Given the description of an element on the screen output the (x, y) to click on. 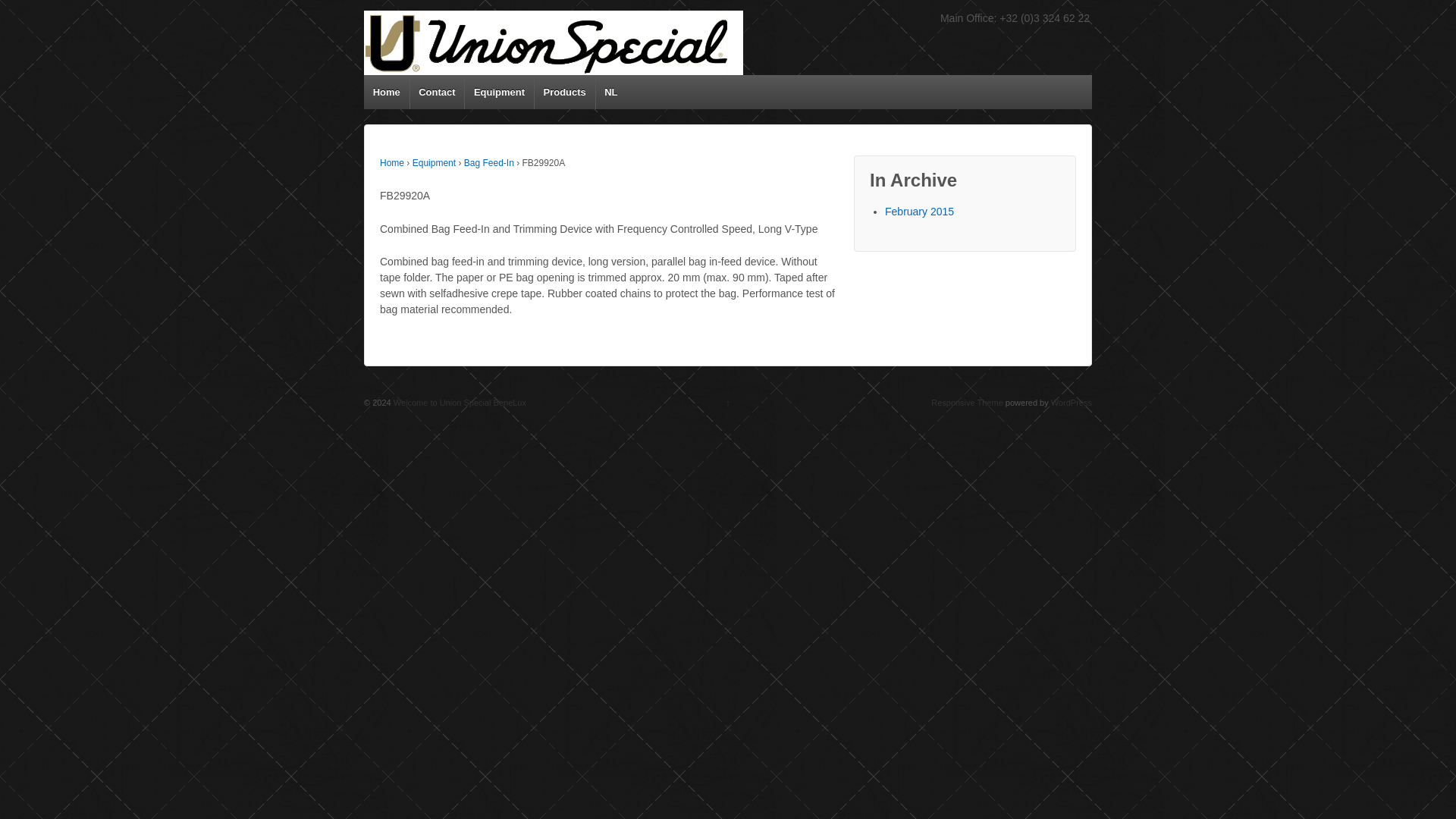
Responsive Theme (967, 402)
Contact (436, 91)
Equipment (499, 91)
Welcome to Union Special BeneLux (458, 402)
WordPress (1071, 402)
Home (386, 91)
